Given the description of an element on the screen output the (x, y) to click on. 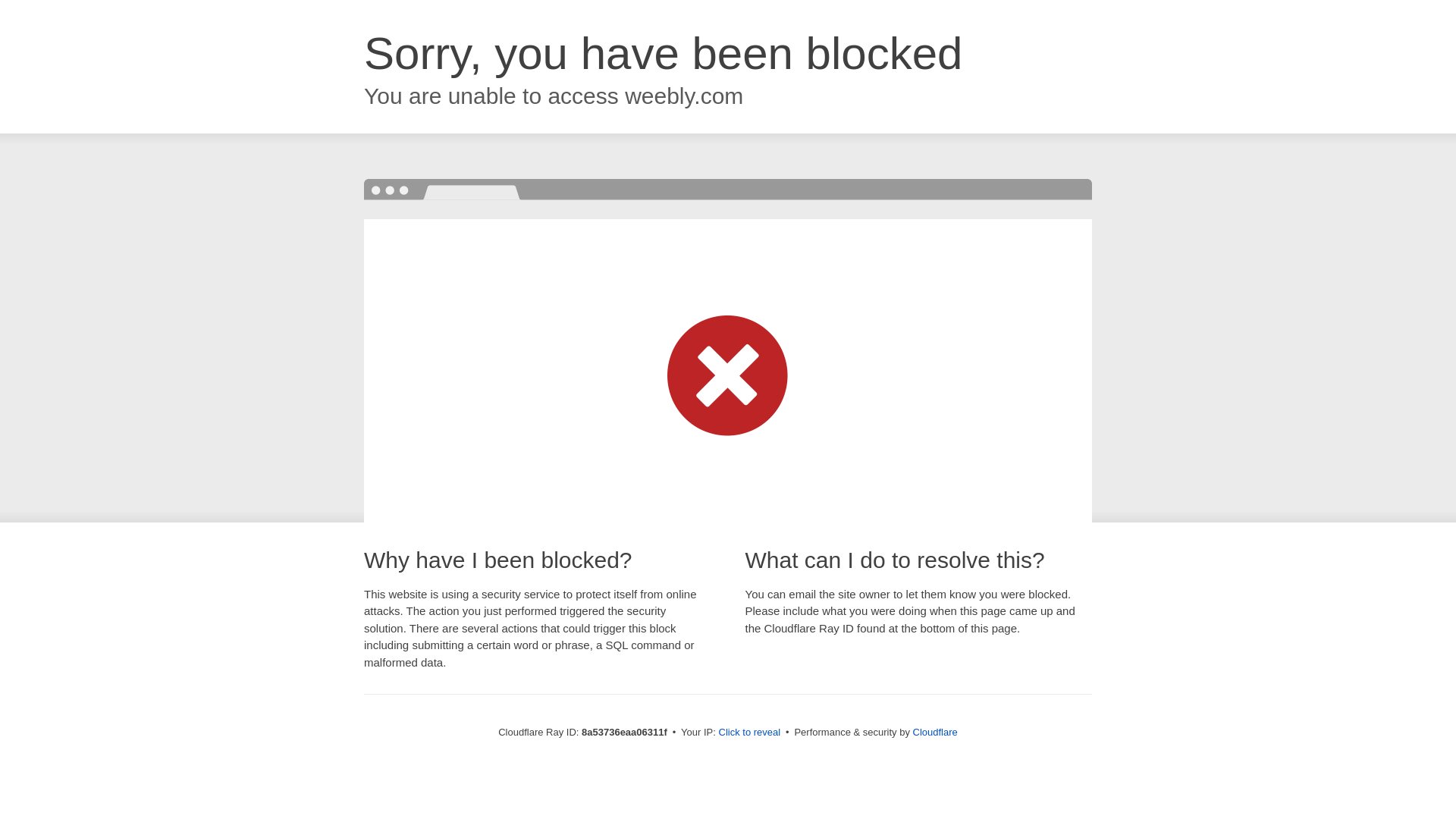
Click to reveal (749, 732)
Cloudflare (935, 731)
